Given the description of an element on the screen output the (x, y) to click on. 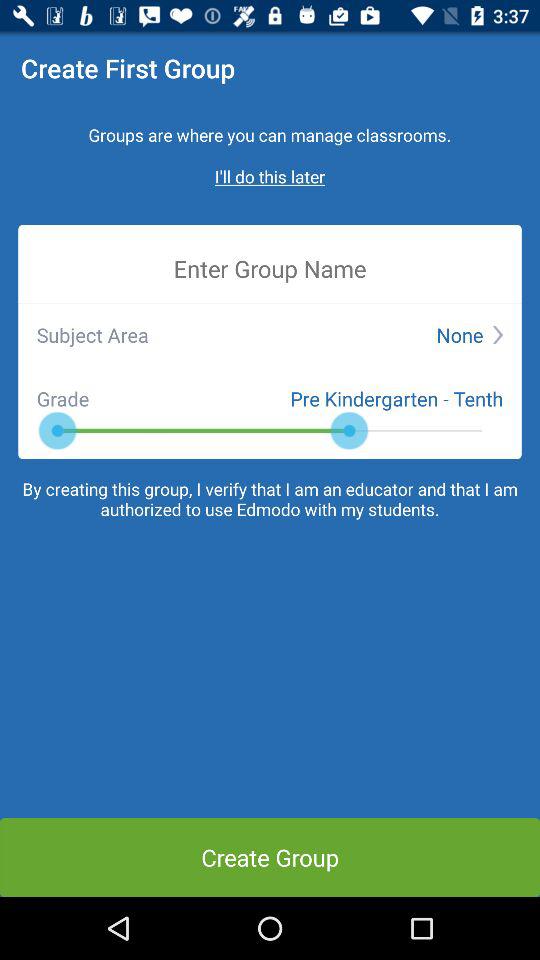
tap i ll do item (269, 176)
